Given the description of an element on the screen output the (x, y) to click on. 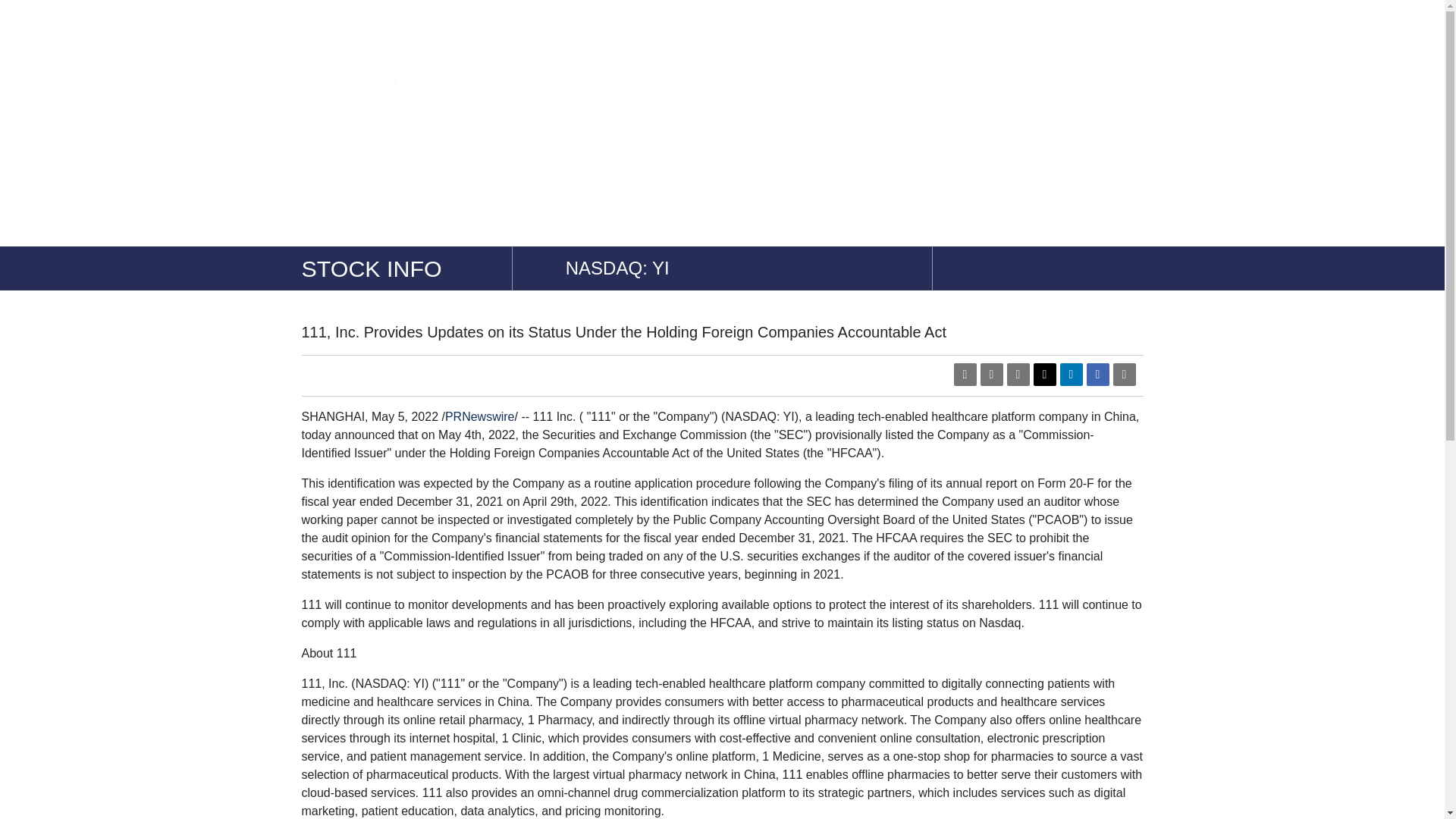
rss (991, 374)
GOVERNANCE (660, 122)
email (1018, 374)
PRNewswire (480, 416)
RESOURCES (978, 122)
pdf (964, 374)
Search (39, 13)
FINANCIALS (863, 122)
CORPORATE (1088, 122)
Linkedin Share (1071, 374)
